Given the description of an element on the screen output the (x, y) to click on. 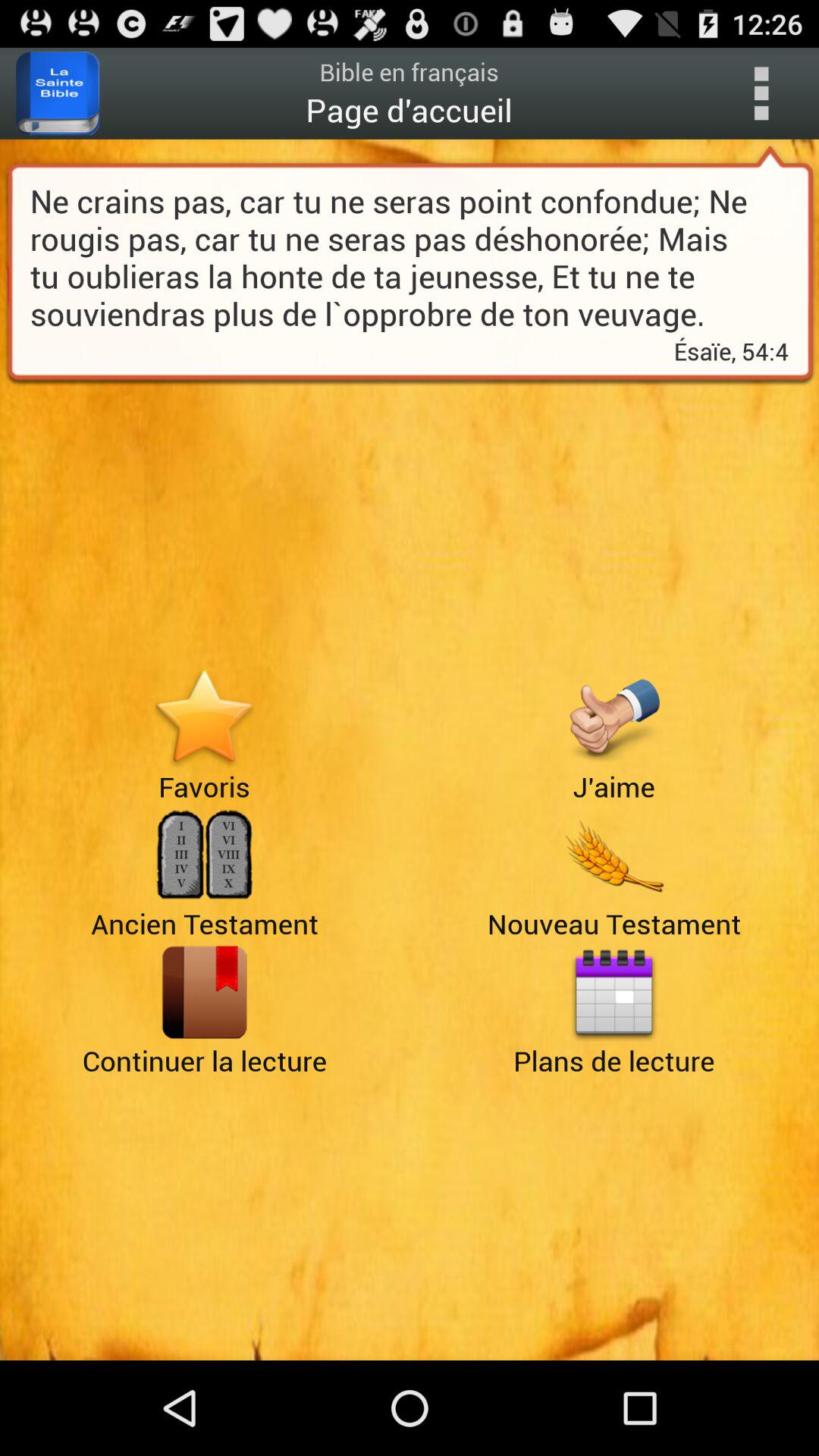
go to advertisement (613, 854)
